Given the description of an element on the screen output the (x, y) to click on. 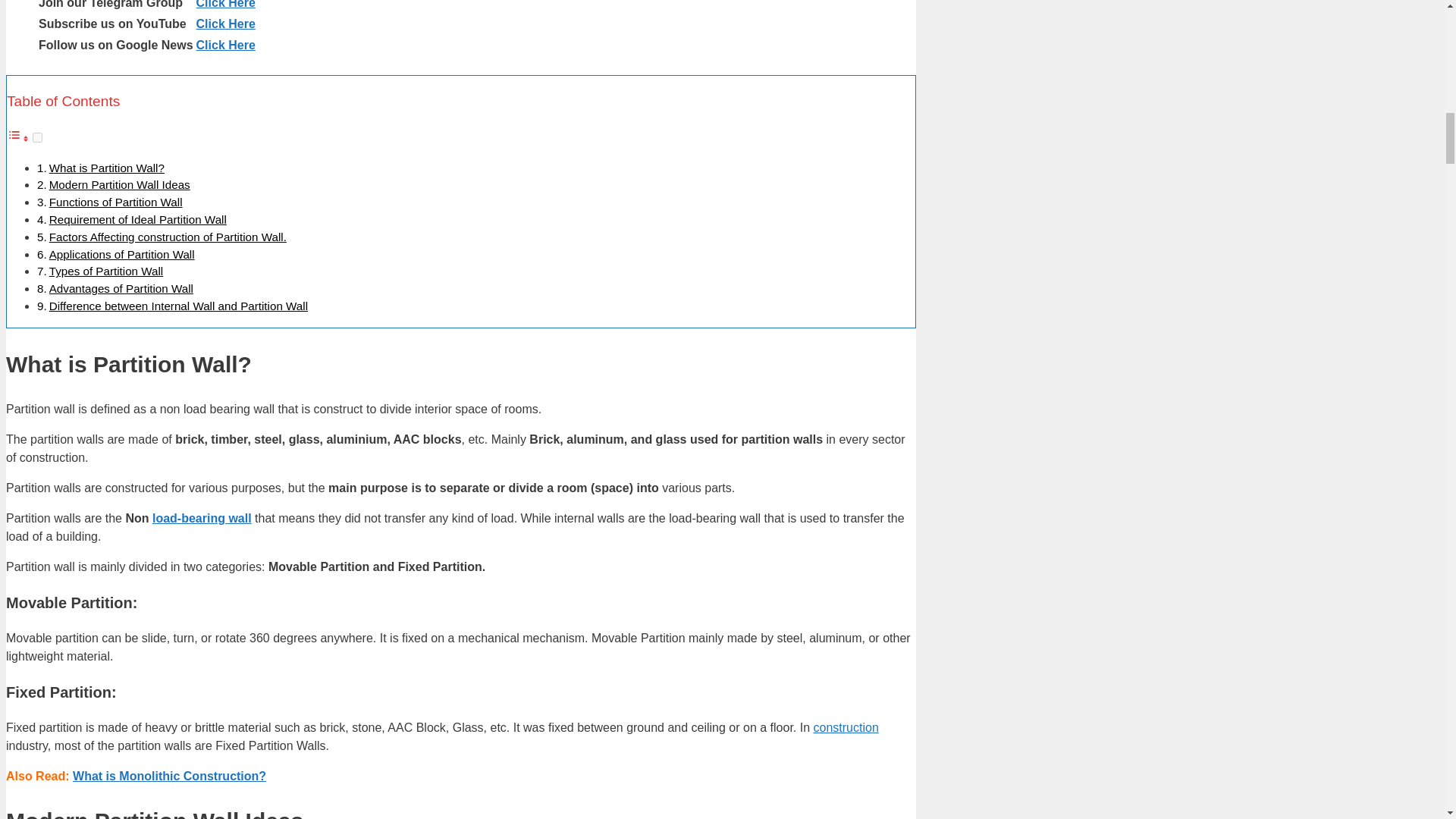
Factors Affecting construction of Partition Wall. (167, 236)
What is Partition Wall? (106, 167)
Functions of Partition Wall (116, 201)
Difference between Internal Wall and Partition Wall (178, 305)
Advantages of Partition Wall (121, 287)
Requirement of Ideal Partition Wall (138, 219)
Applications of Partition Wall (122, 254)
on (37, 137)
Modern Partition Wall Ideas (119, 184)
Types of Partition Wall (106, 270)
